Given the description of an element on the screen output the (x, y) to click on. 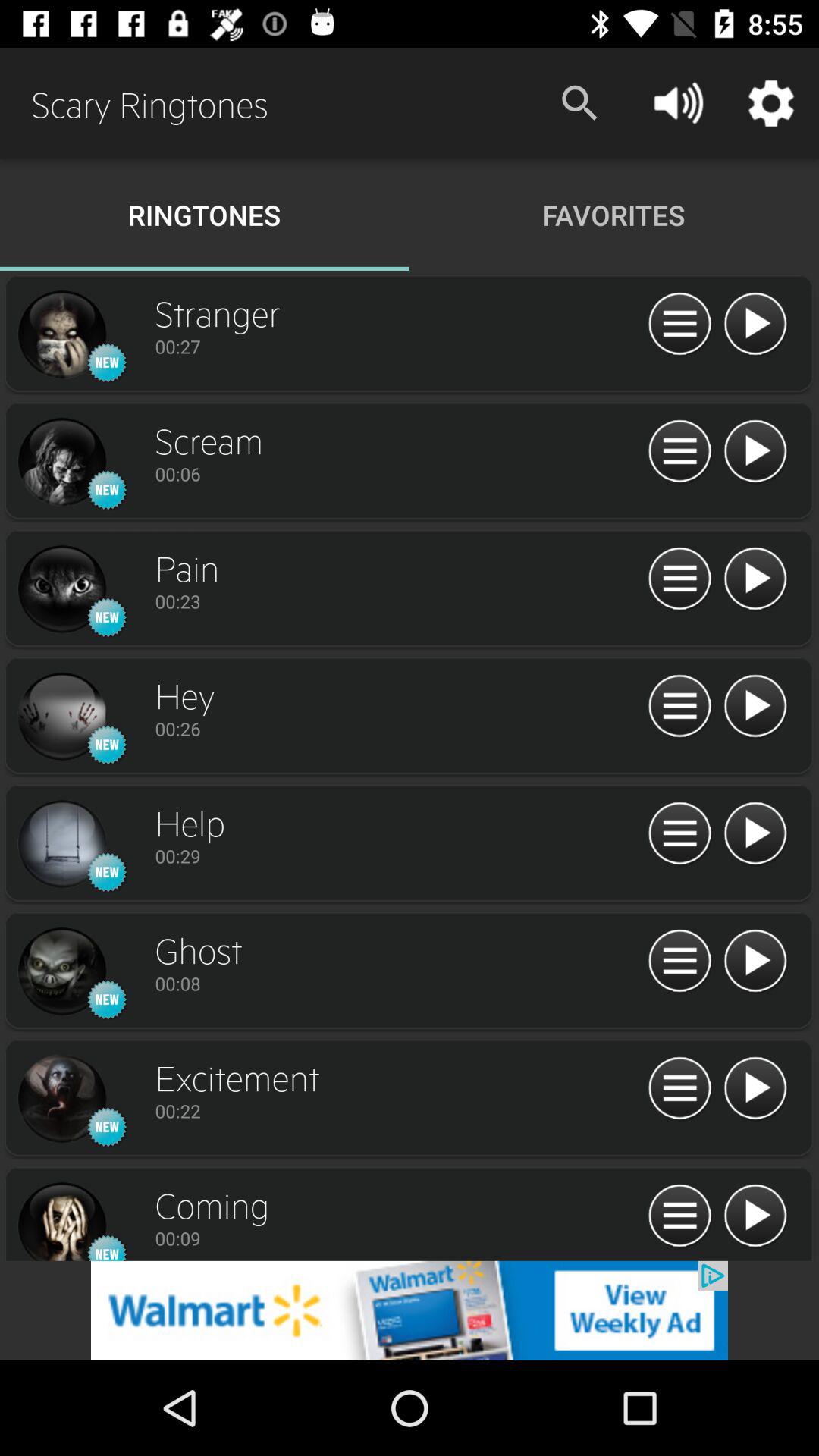
menu (679, 706)
